Given the description of an element on the screen output the (x, y) to click on. 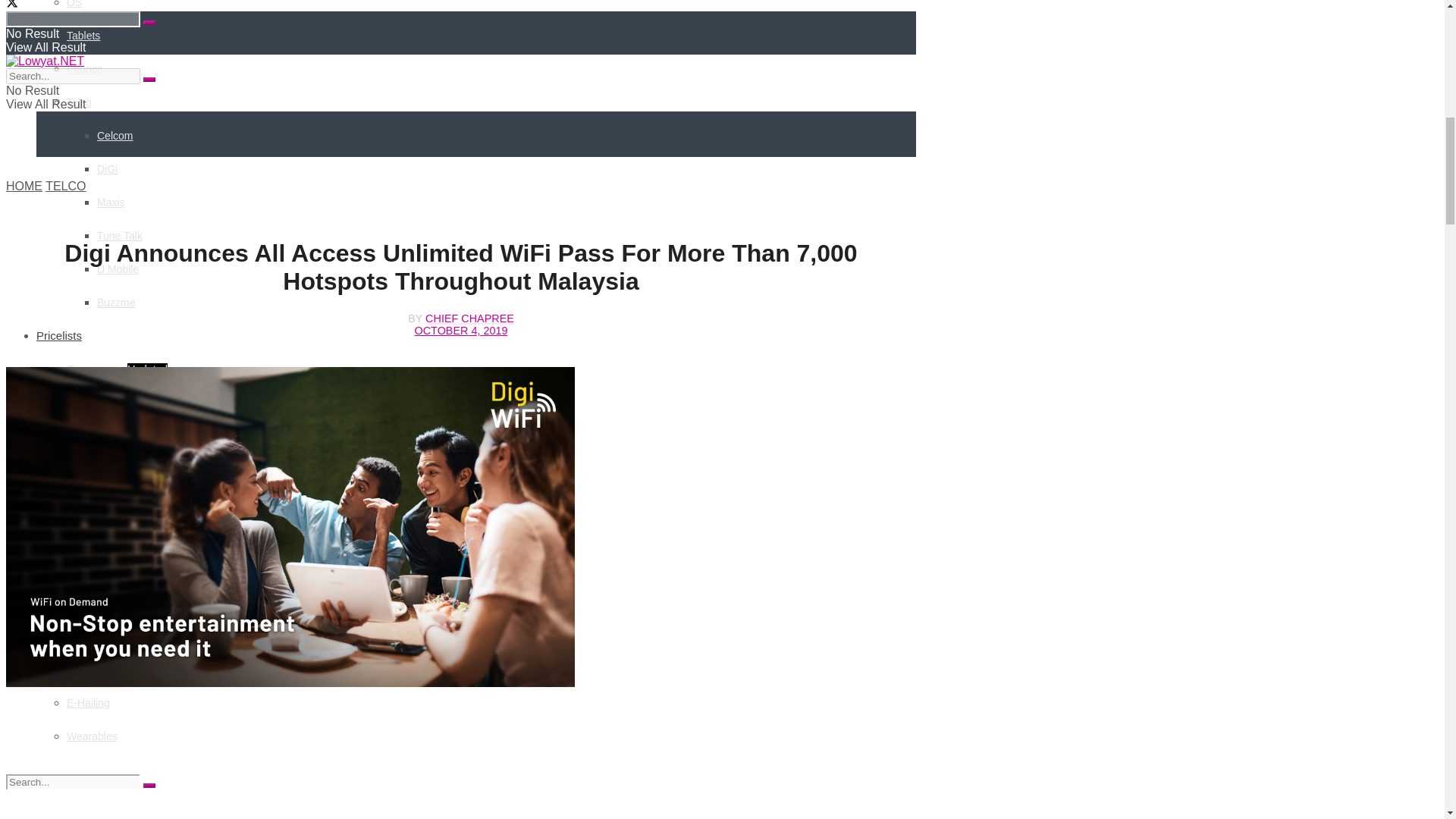
OS (73, 4)
Phones (83, 69)
DiGi (107, 168)
Tune Talk (119, 235)
Maxis (111, 202)
Tablets (83, 35)
Telco (78, 102)
Celcom (114, 135)
